Given the description of an element on the screen output the (x, y) to click on. 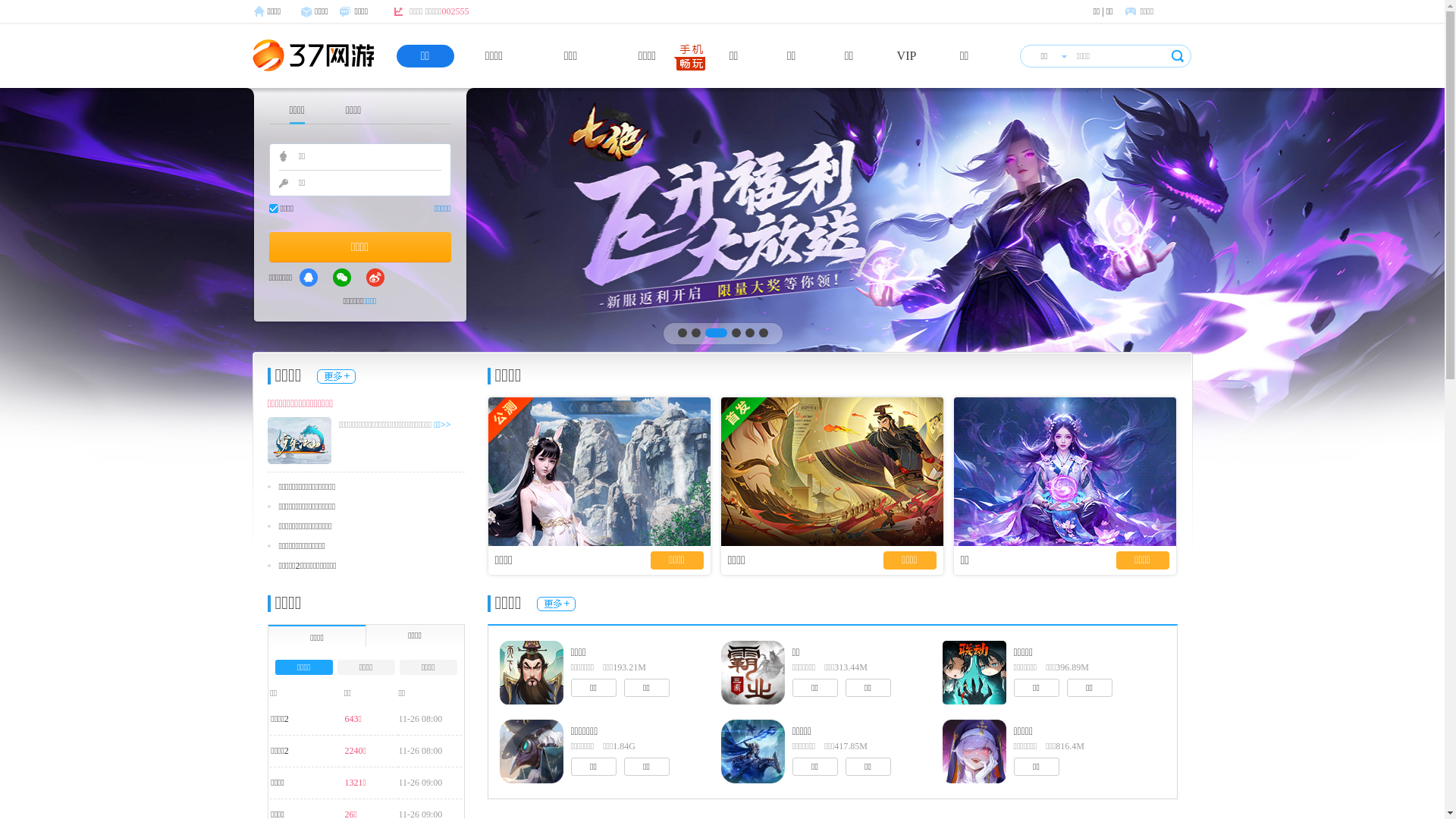
QQ Element type: hover (308, 277)
VIP Element type: text (906, 55)
